Given the description of an element on the screen output the (x, y) to click on. 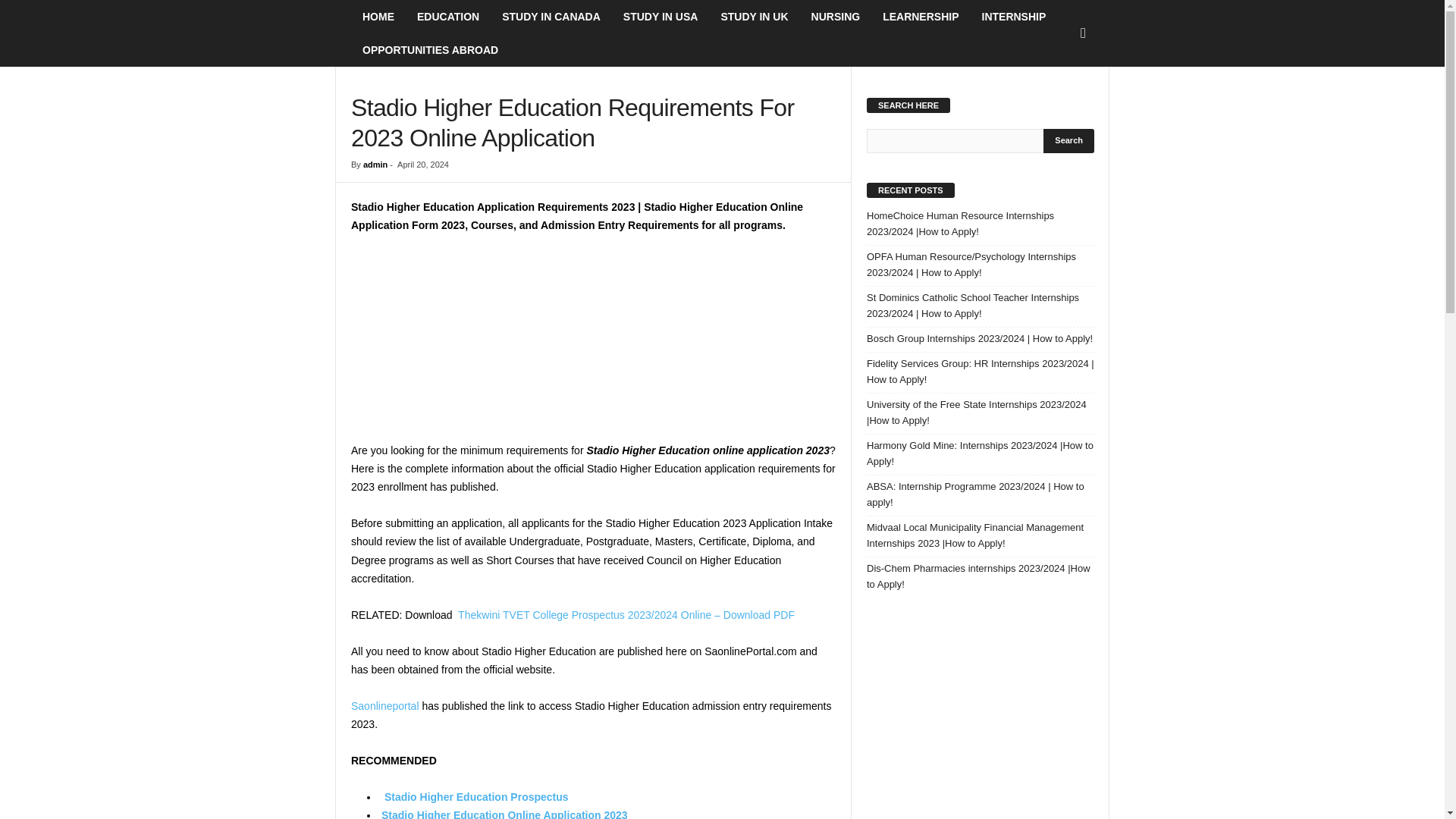
Search (1068, 140)
EDUCATION (448, 16)
HOME (378, 16)
